Given the description of an element on the screen output the (x, y) to click on. 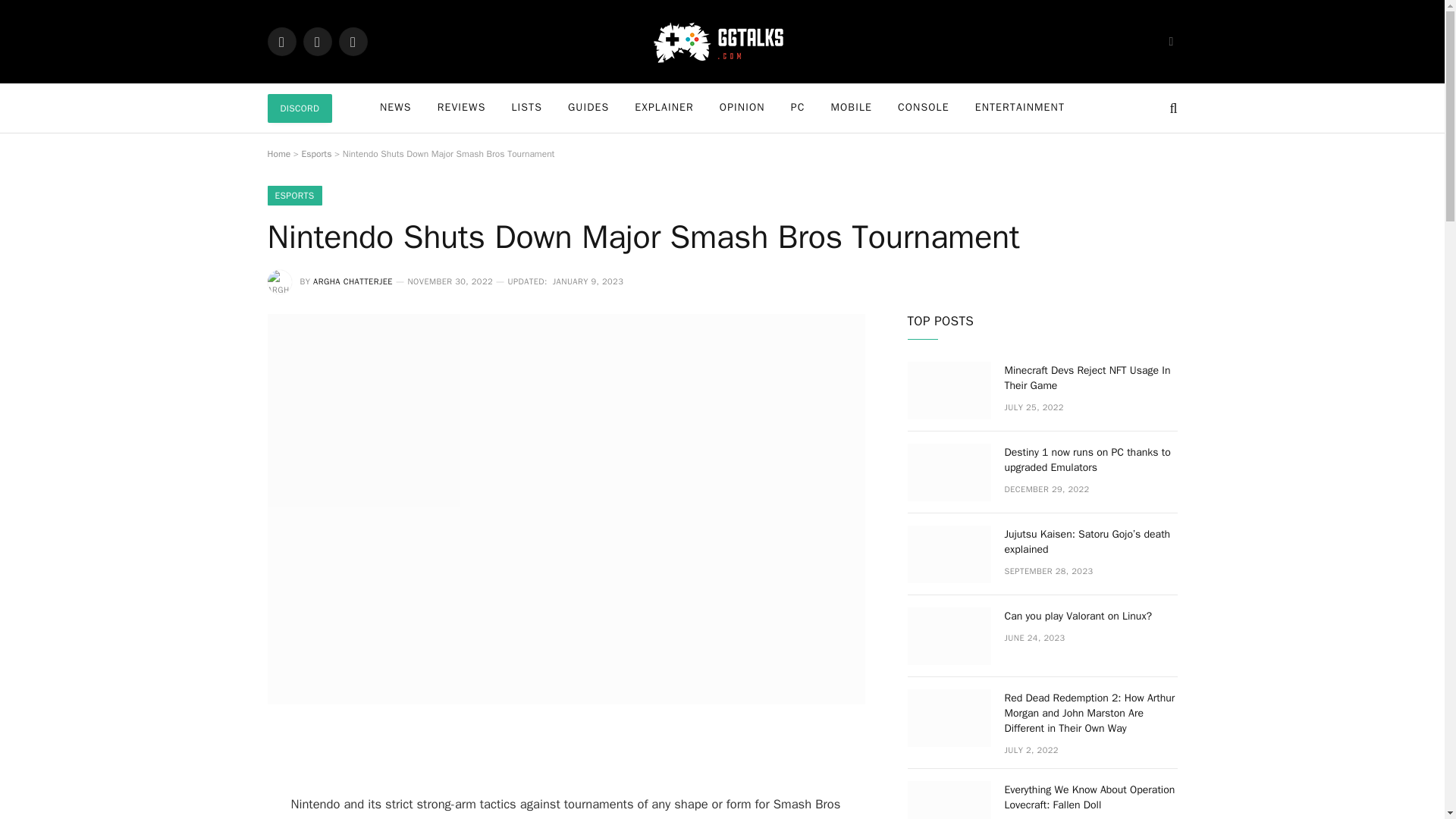
CONSOLE (923, 107)
Esports (316, 153)
EXPLAINER (663, 107)
ENTERTAINMENT (1019, 107)
Switch to Dark Design - easier on eyes. (1168, 41)
OPINION (741, 107)
Posts by Argha Chatterjee (353, 281)
REVIEWS (462, 107)
ARGHA CHATTERJEE (353, 281)
